Given the description of an element on the screen output the (x, y) to click on. 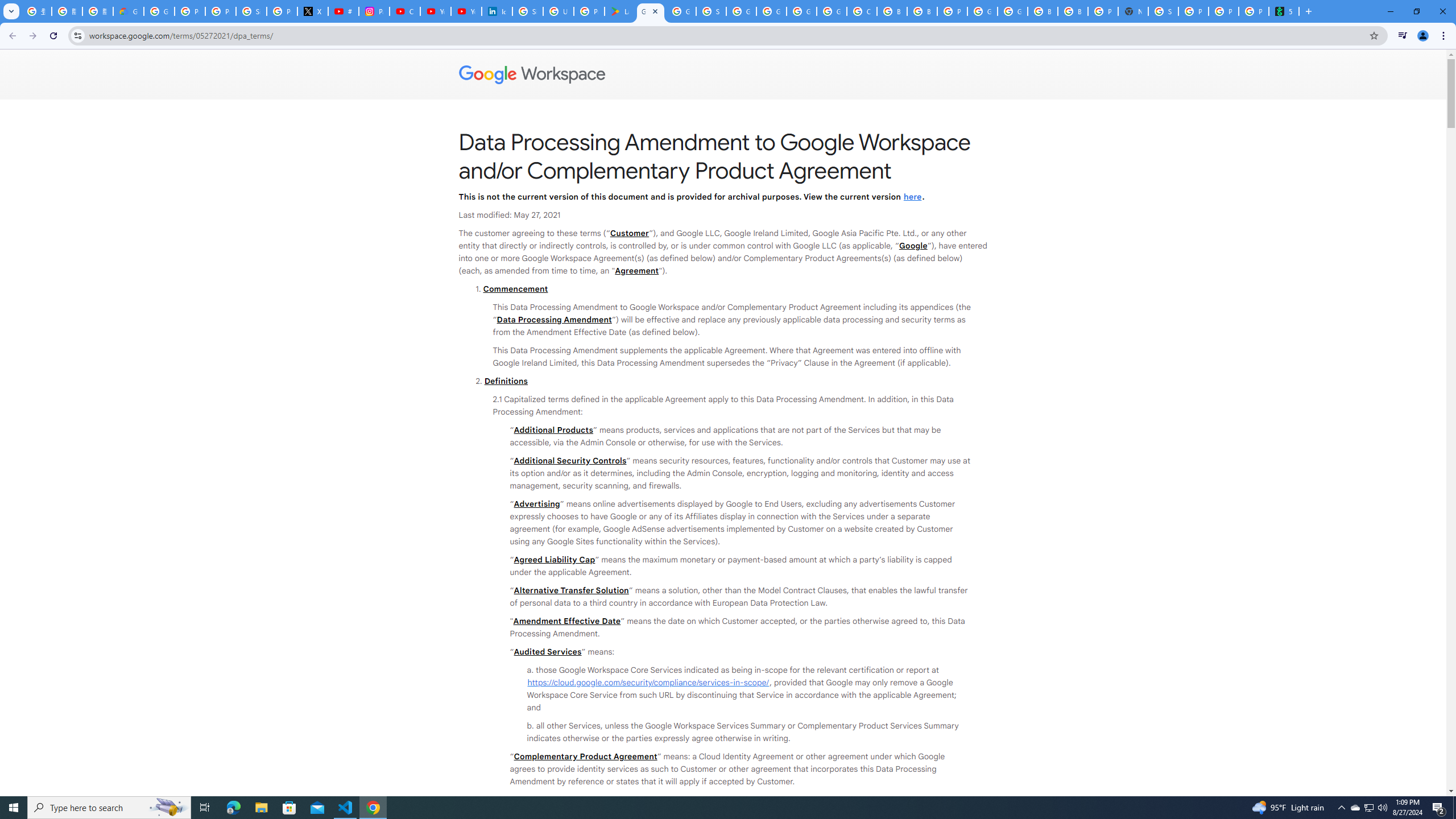
Sign in - Google Accounts (527, 11)
#nbabasketballhighlights - YouTube (343, 11)
Google Cloud Privacy Notice (127, 11)
Reload (52, 35)
YouTube Culture & Trends - YouTube Top 10, 2021 (465, 11)
Chrome (1445, 35)
Identity verification via Persona | LinkedIn Help (496, 11)
X (312, 11)
Forward (32, 35)
System (6, 6)
